Given the description of an element on the screen output the (x, y) to click on. 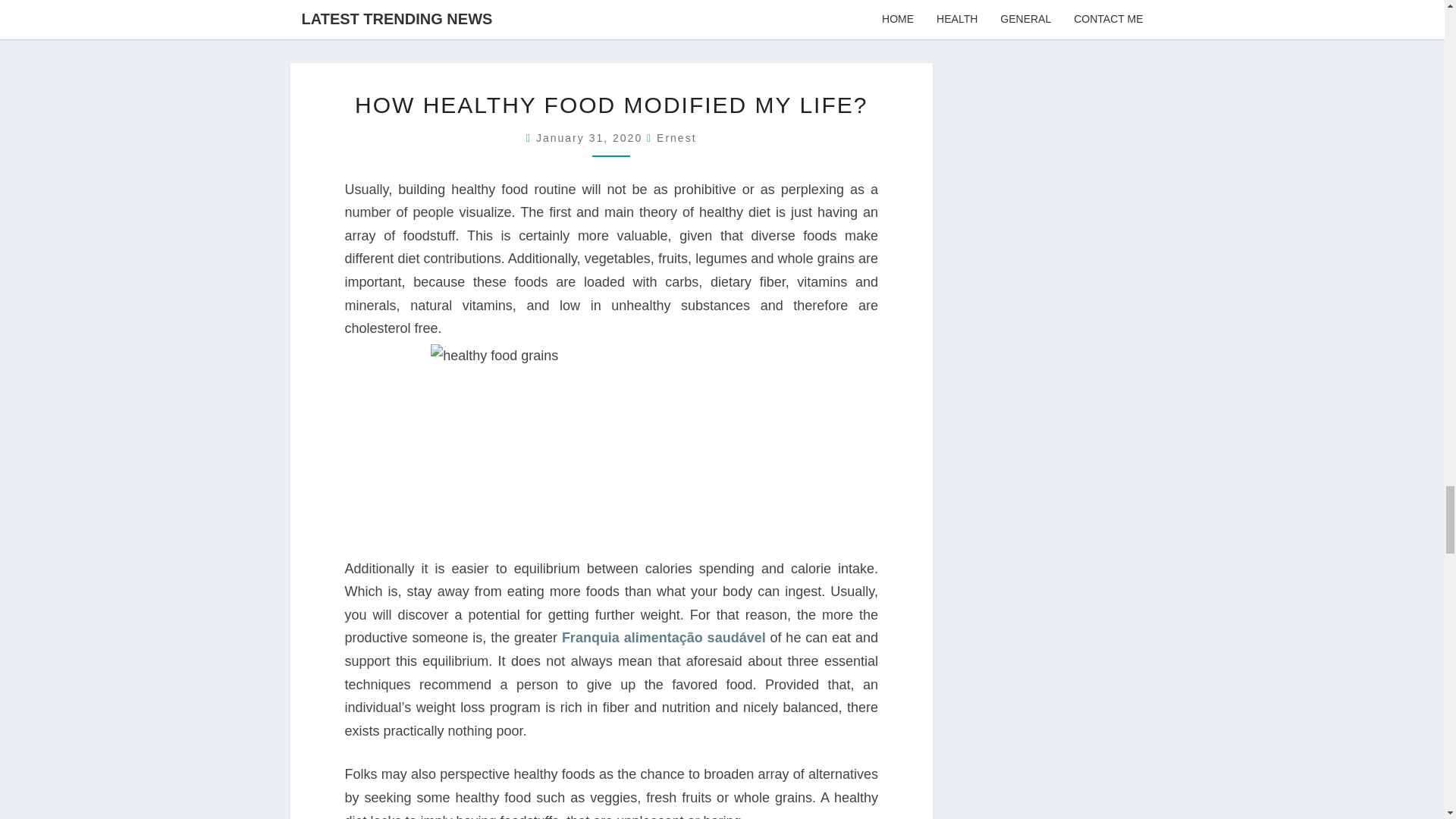
11:41 am (590, 137)
Ernest (675, 137)
View all posts by Ernest (675, 137)
HOW HEALTHY FOOD MODIFIED MY LIFE? (611, 104)
January 31, 2020 (590, 137)
